Given the description of an element on the screen output the (x, y) to click on. 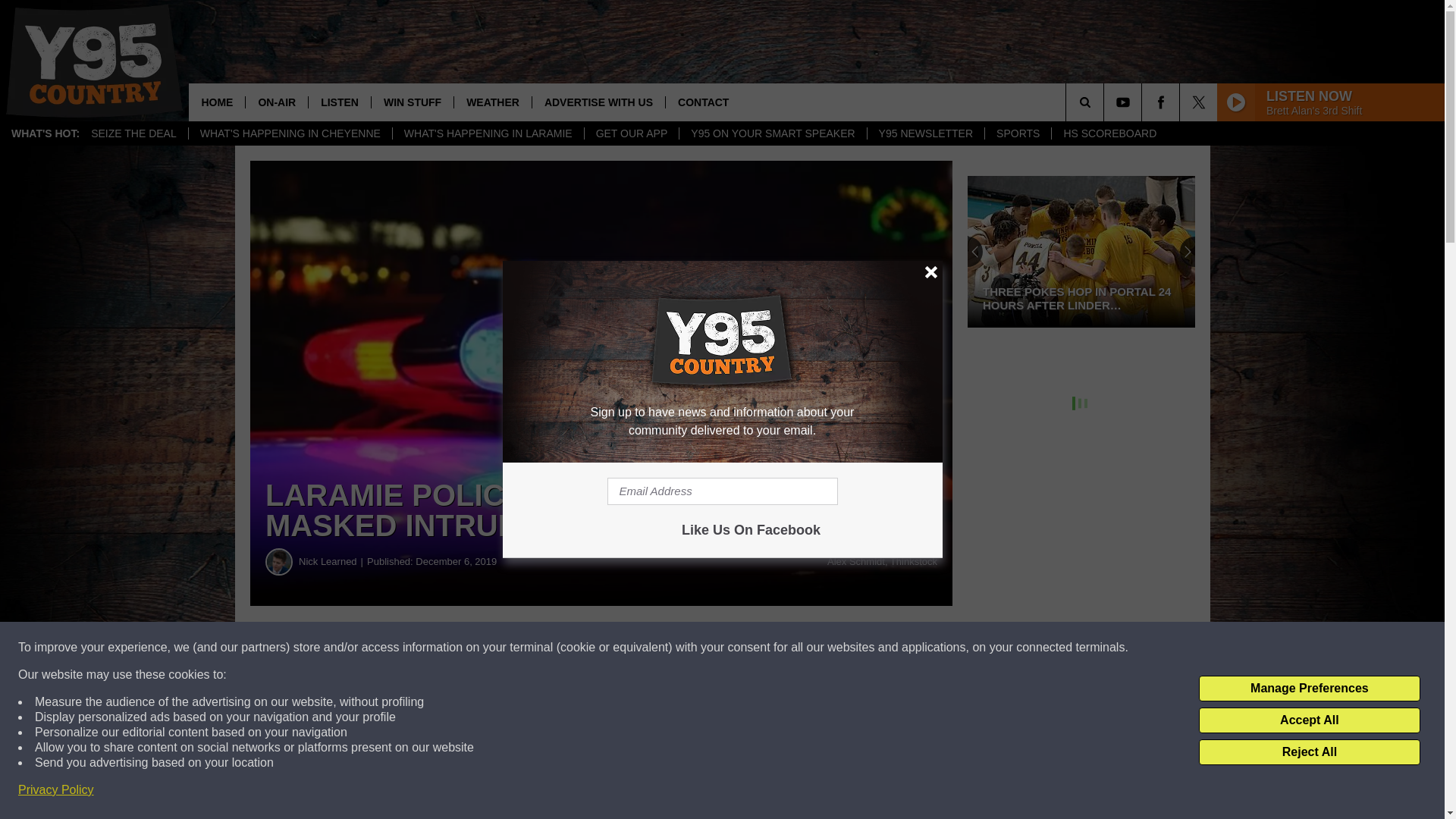
Y95 NEWSLETTER (925, 133)
SPORTS (1017, 133)
LISTEN (339, 102)
HS SCOREBOARD (1109, 133)
Manage Preferences (1309, 688)
Email Address (722, 491)
Reject All (1309, 751)
WEATHER (491, 102)
Share on Facebook (460, 647)
SEARCH (1106, 102)
WHAT'S HAPPENING IN LARAMIE (487, 133)
GET OUR APP (631, 133)
Y95 ON YOUR SMART SPEAKER (772, 133)
ADVERTISE WITH US (598, 102)
CONTACT (703, 102)
